Given the description of an element on the screen output the (x, y) to click on. 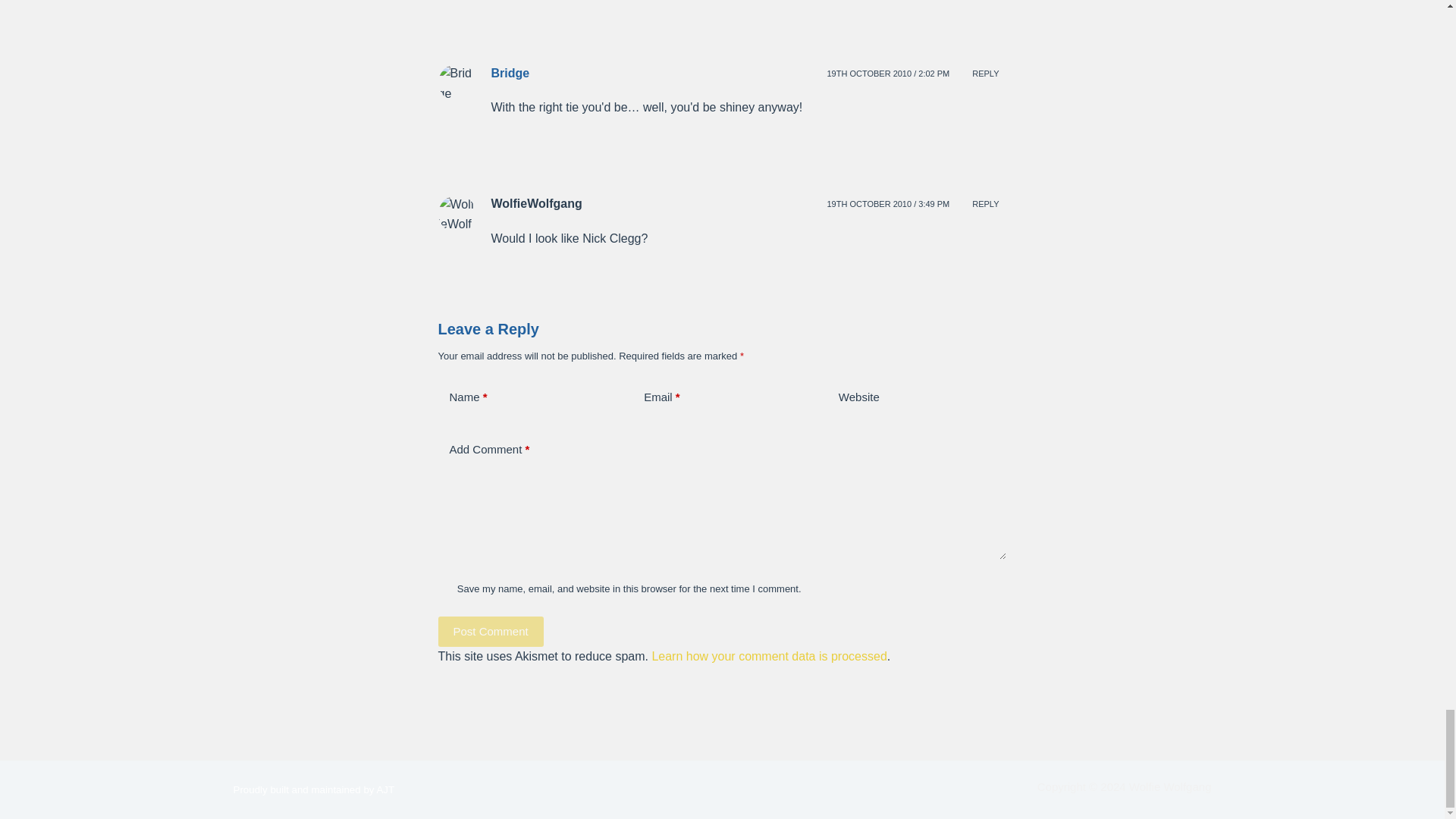
yes (443, 588)
